Given the description of an element on the screen output the (x, y) to click on. 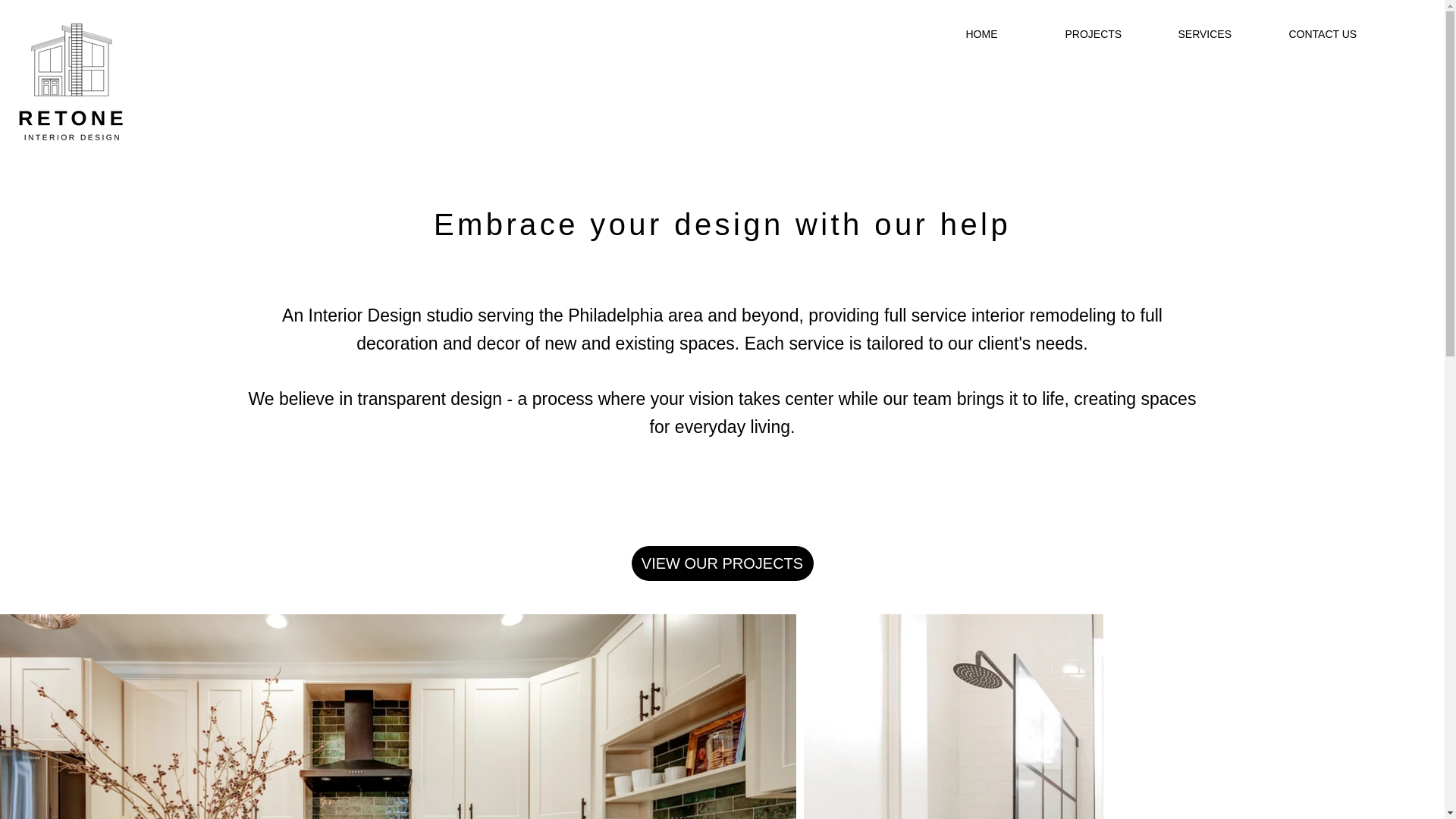
SERVICES (1221, 33)
PROJECTS (1109, 33)
CONTACT US (1341, 33)
VIEW OUR PROJECTS (721, 563)
HOME (1002, 33)
